Given the description of an element on the screen output the (x, y) to click on. 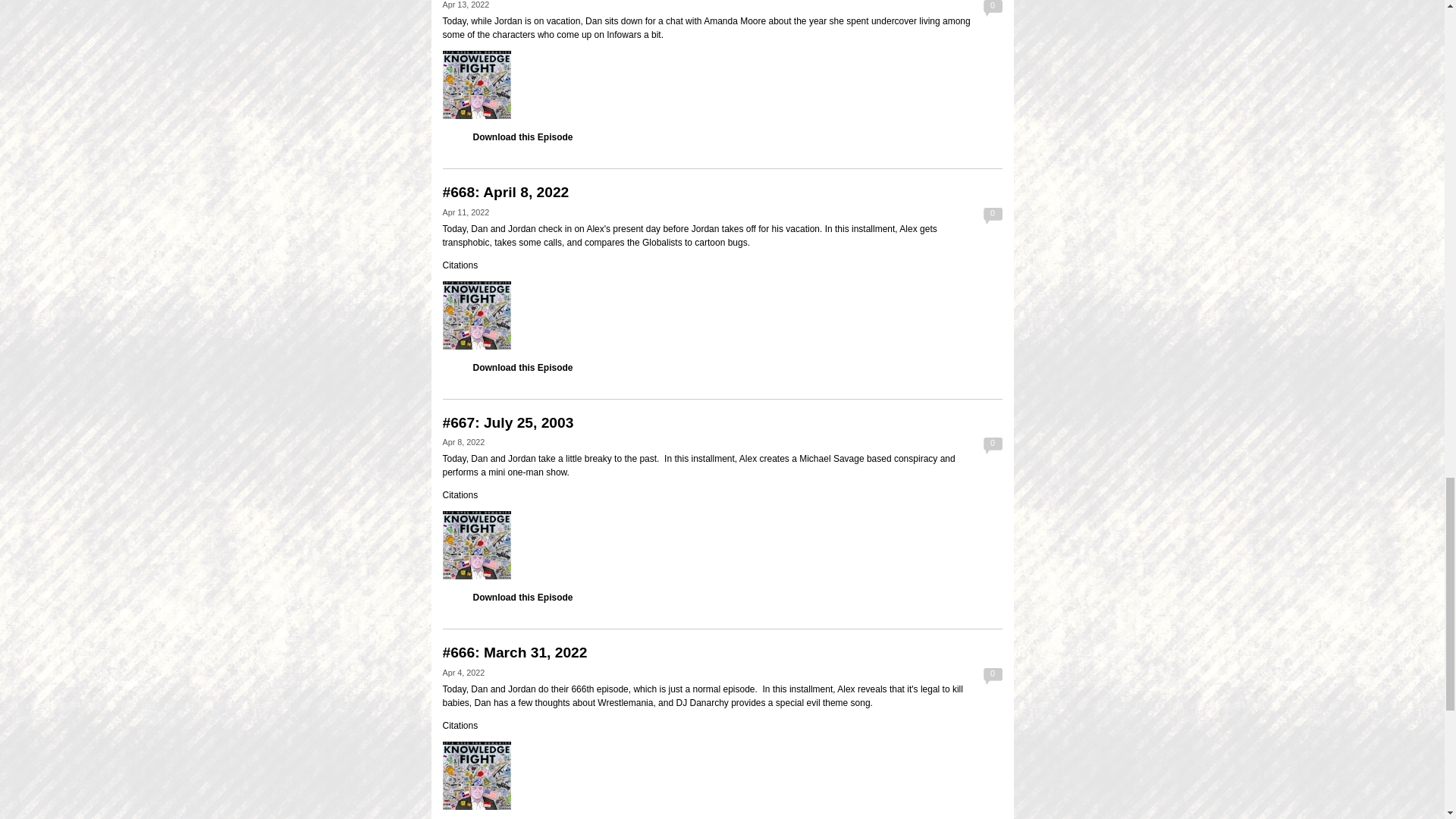
Libsyn Player (722, 545)
Libsyn Player (722, 315)
Libsyn Player (722, 775)
Libsyn Player (722, 84)
